Given the description of an element on the screen output the (x, y) to click on. 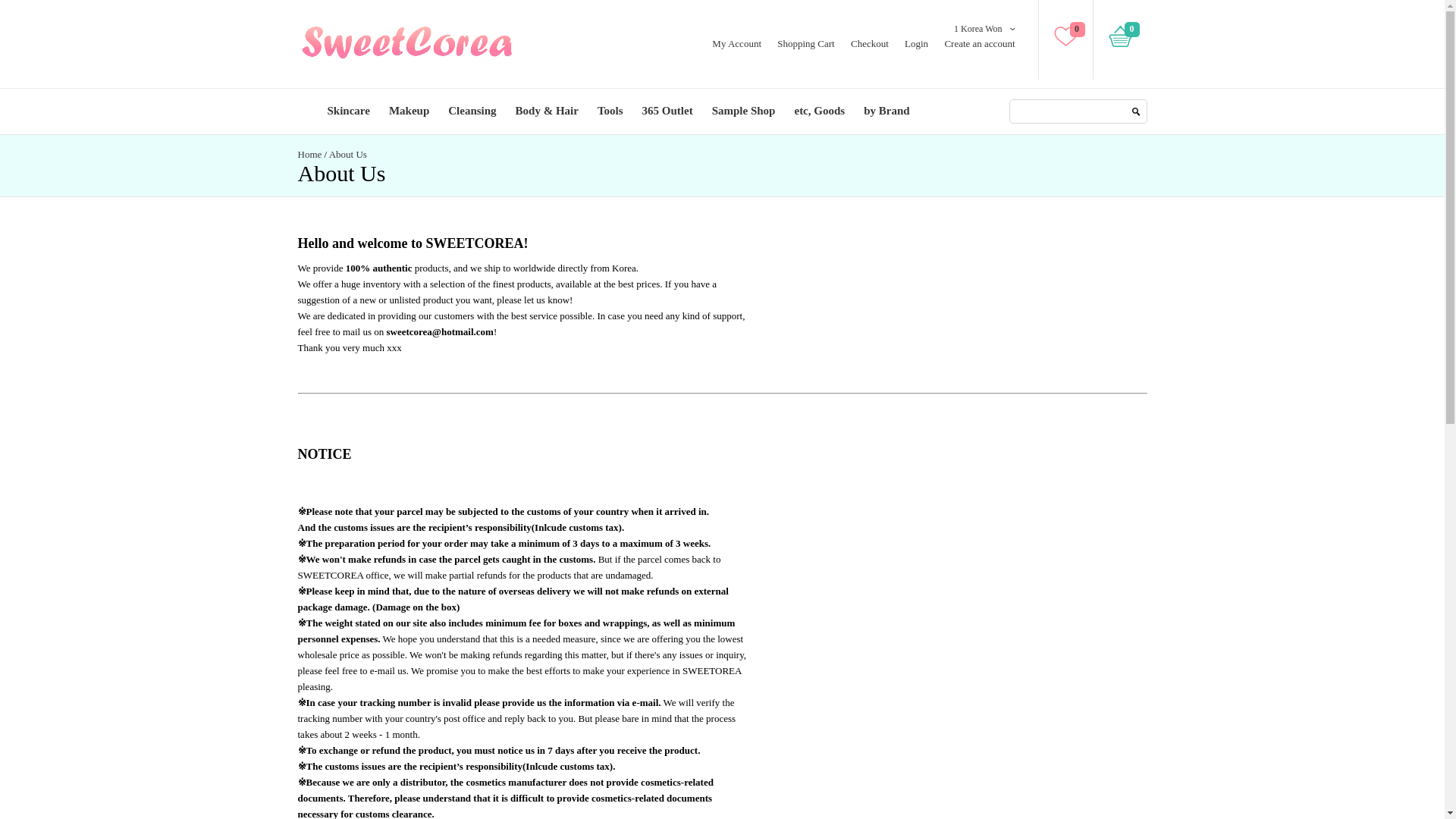
Makeup (408, 111)
Login (916, 43)
Checkout (869, 43)
Shopping Cart (805, 43)
Create an account (978, 43)
Skincare (347, 111)
1 Korea Won (977, 28)
SweetCorea (406, 42)
My Account (736, 43)
